Given the description of an element on the screen output the (x, y) to click on. 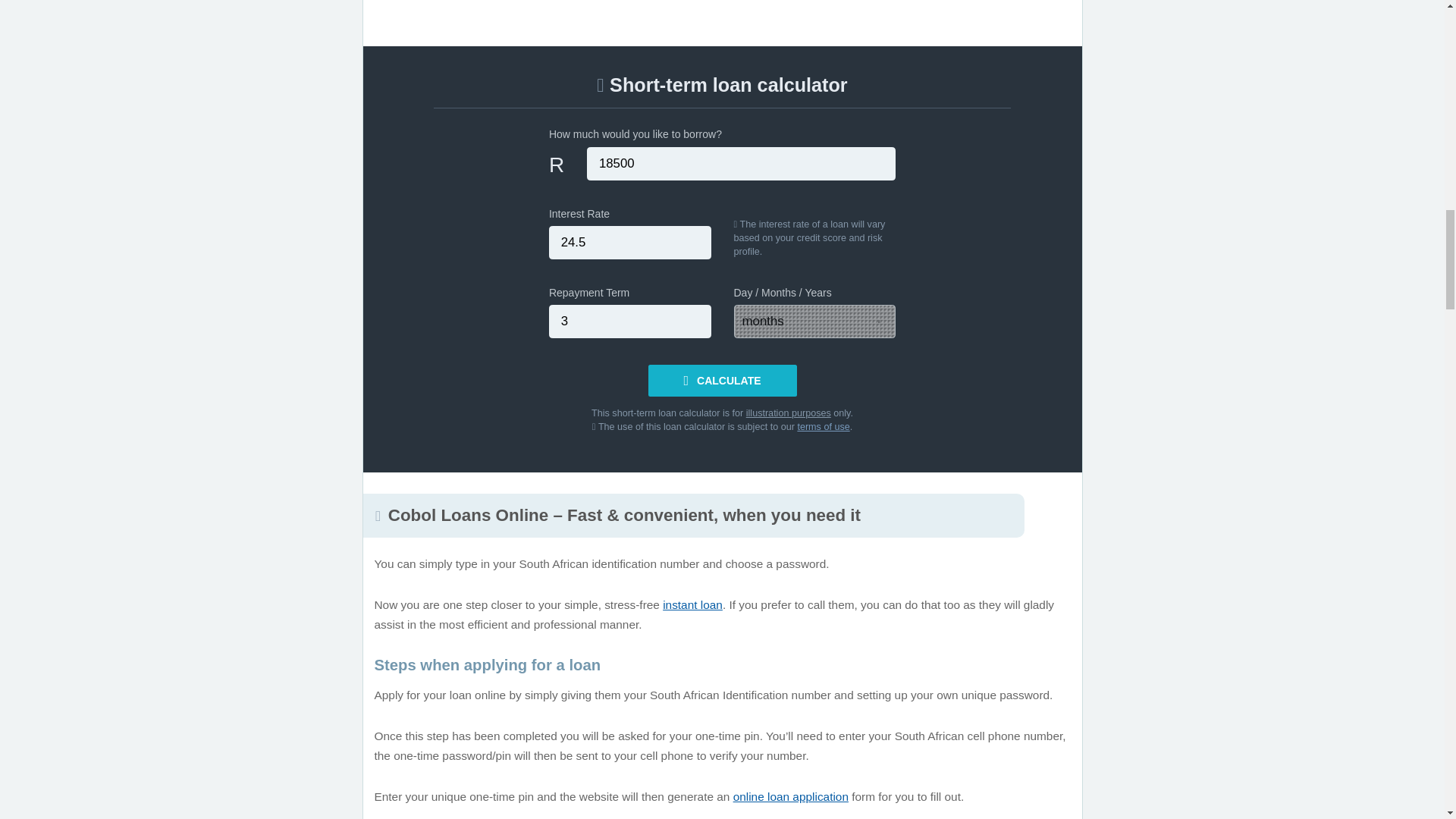
online loan application (790, 796)
 24.5  (629, 242)
 3  (629, 321)
terms of use (822, 426)
 18500  (740, 163)
instant loan (692, 604)
CALCULATE (721, 380)
